Given the description of an element on the screen output the (x, y) to click on. 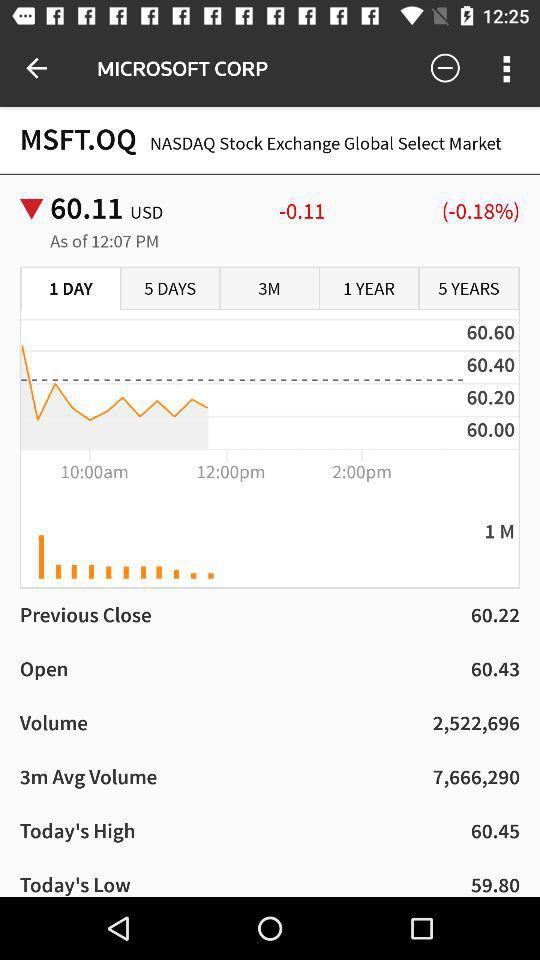
turn off icon next to 3m item (170, 289)
